Given the description of an element on the screen output the (x, y) to click on. 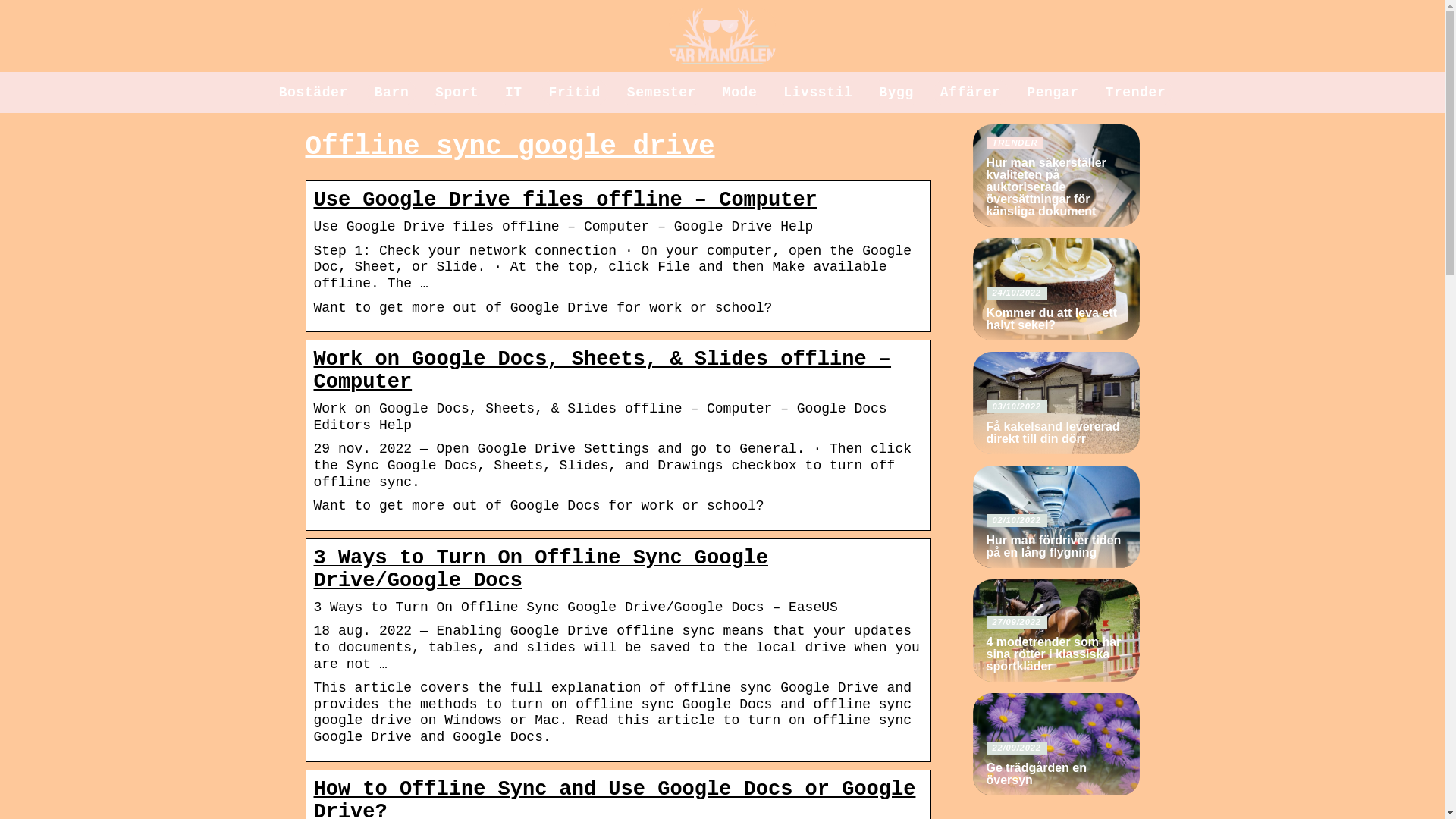
Pengar (1052, 92)
Livsstil (817, 92)
Trender (1135, 92)
Semester (661, 92)
Sport (457, 92)
Bygg (896, 92)
Fritid (573, 92)
Barn (391, 92)
Mode (739, 92)
IT (513, 92)
